Given the description of an element on the screen output the (x, y) to click on. 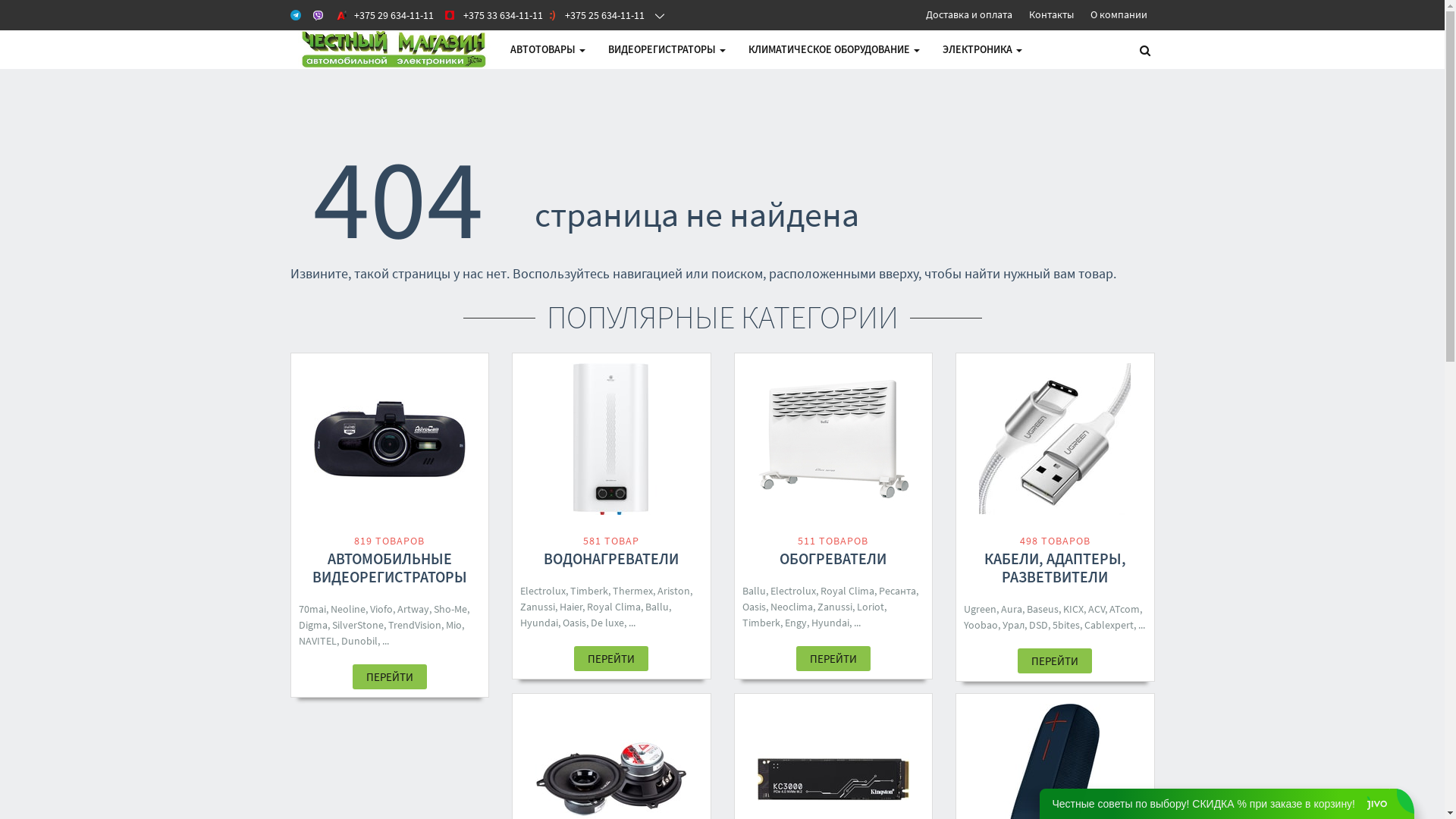
Electrolux Element type: text (542, 590)
Timberk Element type: text (589, 590)
Ariston Element type: text (673, 590)
SilverStone Element type: text (357, 624)
Aura Element type: text (1011, 608)
KICX Element type: text (1073, 608)
Loriot Element type: text (870, 606)
Electrolux Element type: text (792, 590)
+375 25 634-11-11 Element type: text (593, 14)
TrendVision Element type: text (414, 624)
Mio Element type: text (453, 624)
Zanussi Element type: text (537, 606)
70mai Element type: text (312, 608)
Timberk Element type: text (760, 622)
Royal Clima Element type: text (847, 590)
Engy Element type: text (795, 622)
Zanussi Element type: text (834, 606)
Ugreen Element type: text (979, 608)
ATcom Element type: text (1124, 608)
+375 33 634-11-11 Element type: text (488, 14)
Oasis Element type: text (753, 606)
Ballu Element type: text (753, 590)
Hyundai Element type: text (830, 622)
DSD Element type: text (1038, 624)
Dunobil Element type: text (359, 640)
Yoobao Element type: text (980, 624)
Haier Element type: text (570, 606)
Hyundai Element type: text (539, 622)
Artway Element type: text (413, 608)
+375 29 634-11-11 Element type: text (383, 14)
Baseus Element type: text (1042, 608)
Royal Clima Element type: text (613, 606)
Thermex Element type: text (632, 590)
De luxe Element type: text (607, 622)
Digma Element type: text (312, 624)
Neoline Element type: text (347, 608)
ACV Element type: text (1096, 608)
Oasis Element type: text (574, 622)
Sho-Me Element type: text (450, 608)
Cablexpert Element type: text (1108, 624)
Viofo Element type: text (381, 608)
Ballu Element type: text (656, 606)
5bites Element type: text (1065, 624)
NAVITEL Element type: text (317, 640)
Neoclima Element type: text (791, 606)
